Given the description of an element on the screen output the (x, y) to click on. 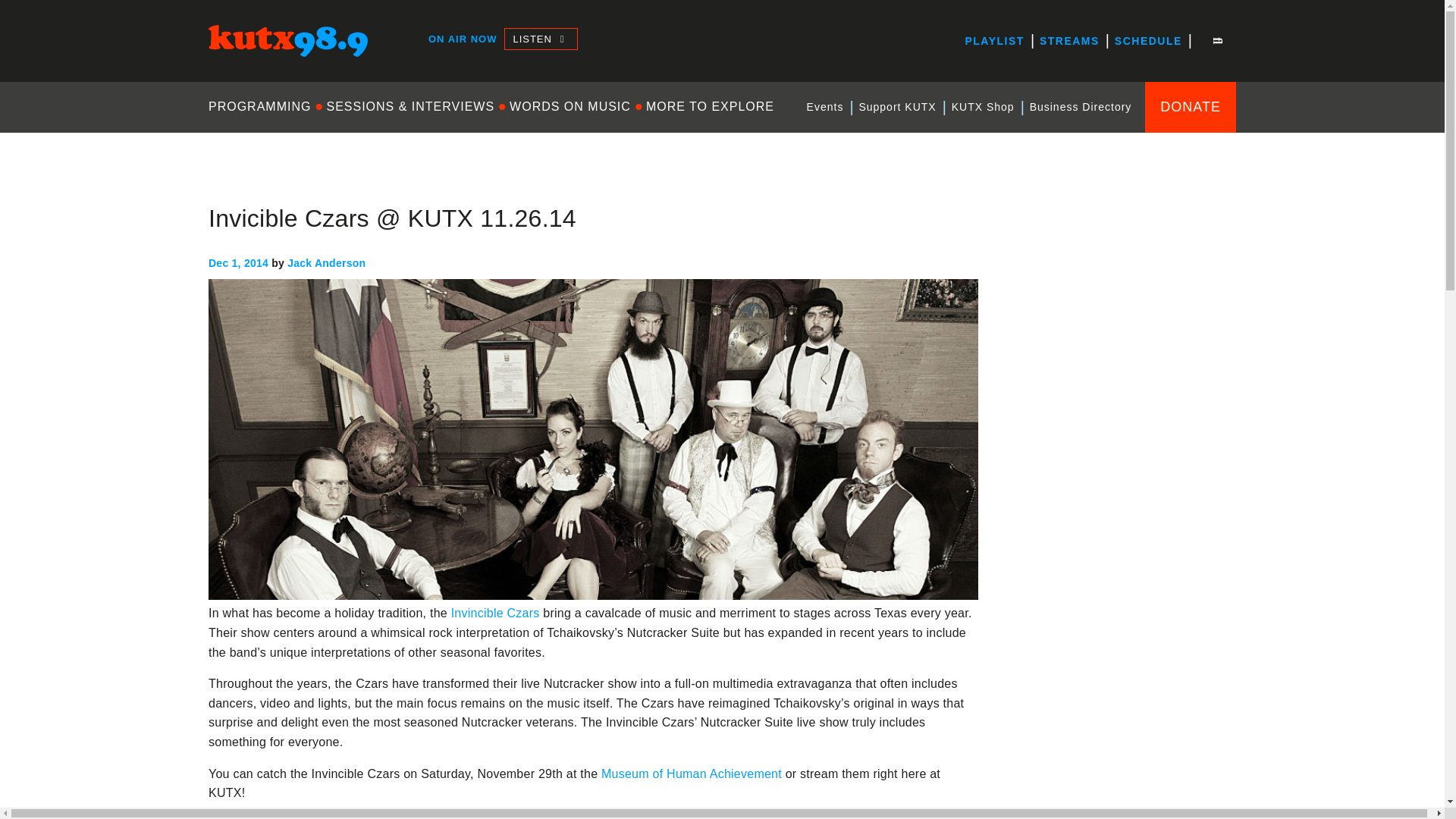
STREAMS (1069, 40)
KUTX (224, 69)
PROGRAMMING (263, 106)
Events (825, 106)
WORDS ON MUSIC (570, 106)
SCHEDULE (1147, 40)
Business Directory (1081, 106)
PLAYLIST (993, 40)
KUTX Shop (982, 106)
MORE TO EXPLORE (710, 106)
